Given the description of an element on the screen output the (x, y) to click on. 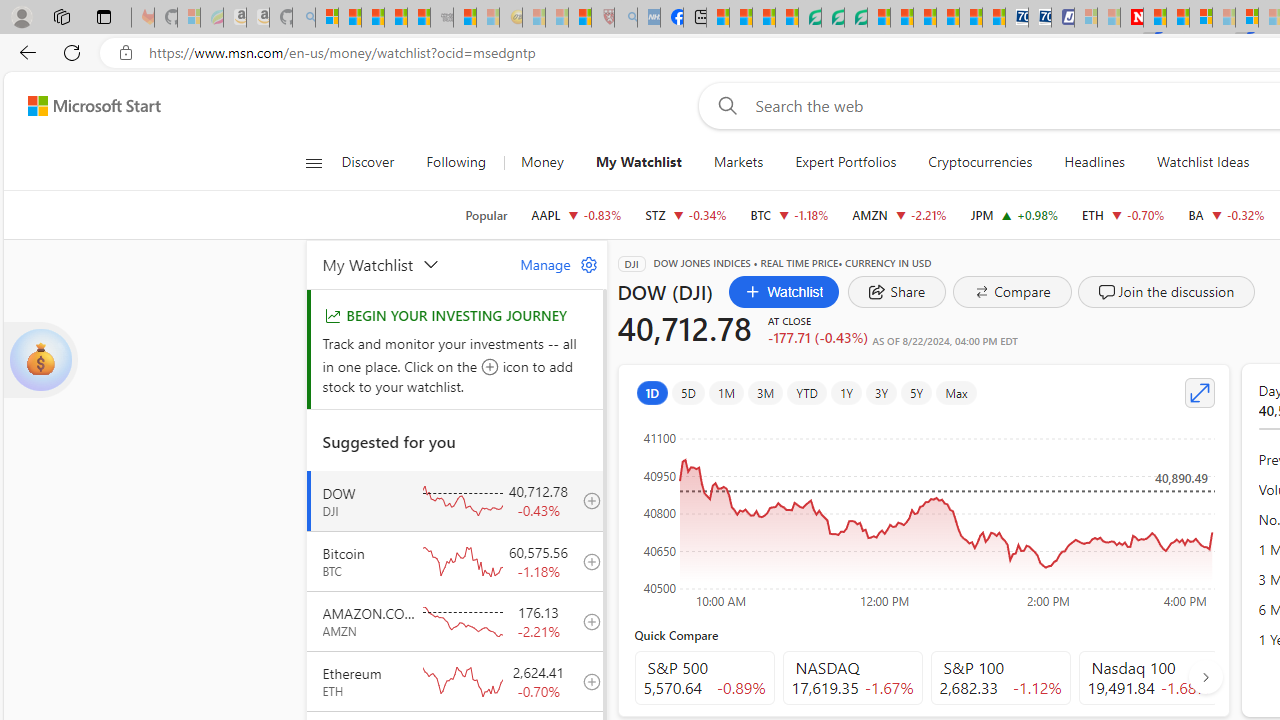
Terms of Use Agreement (832, 17)
Cryptocurrencies (980, 162)
1D (652, 392)
Class: recharts-surface (923, 513)
AutomationID: finance_carousel_navi_arrow (1205, 676)
My Watchlist (409, 264)
